Given the description of an element on the screen output the (x, y) to click on. 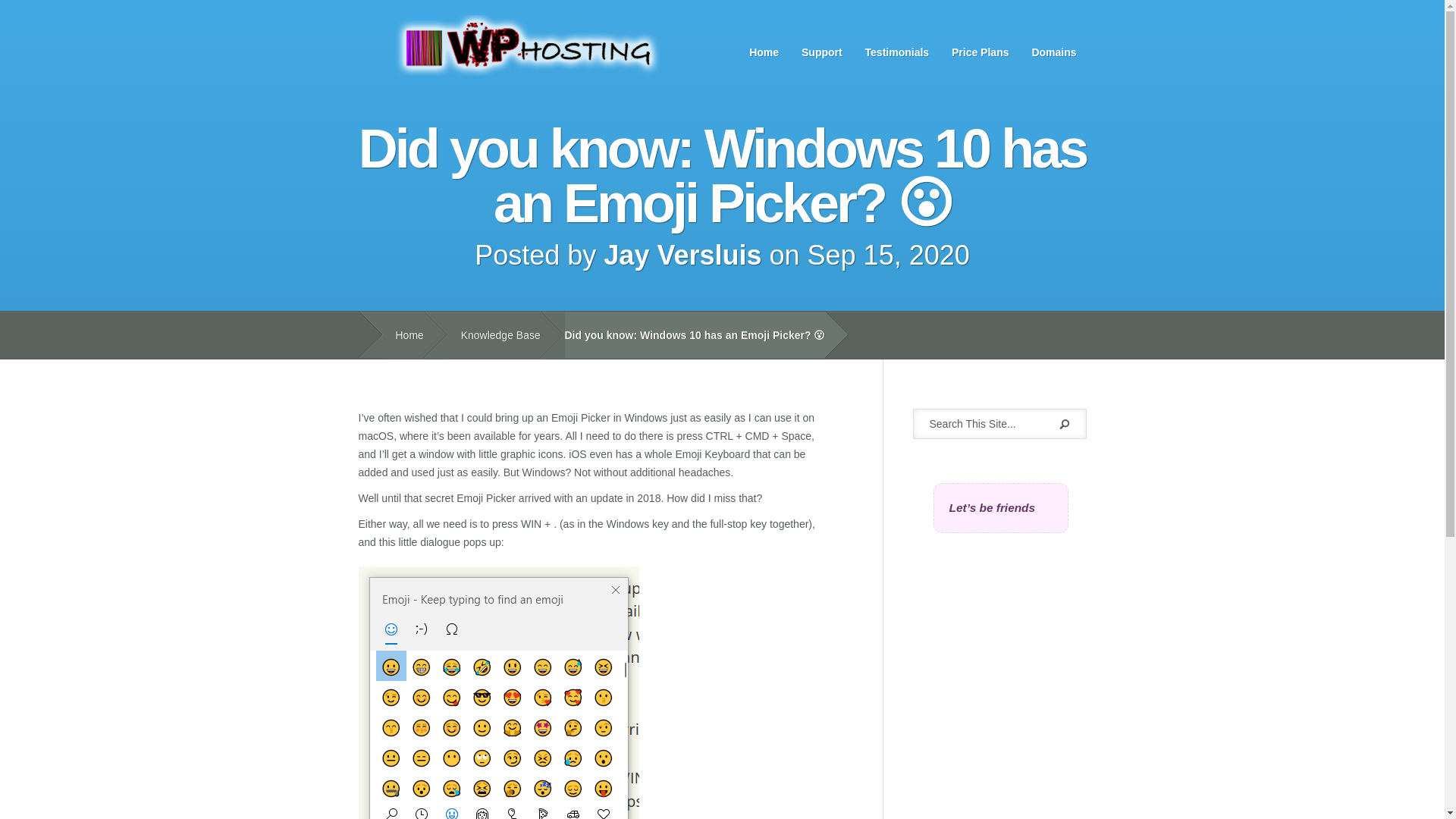
Price Plans (980, 52)
Search This Site... (983, 423)
Jay Versluis (682, 255)
Knowledge Base (494, 335)
Testimonials (897, 52)
Domains (1054, 52)
Home (402, 335)
Home (764, 52)
Posts by Jay Versluis (682, 255)
Support (821, 52)
